Given the description of an element on the screen output the (x, y) to click on. 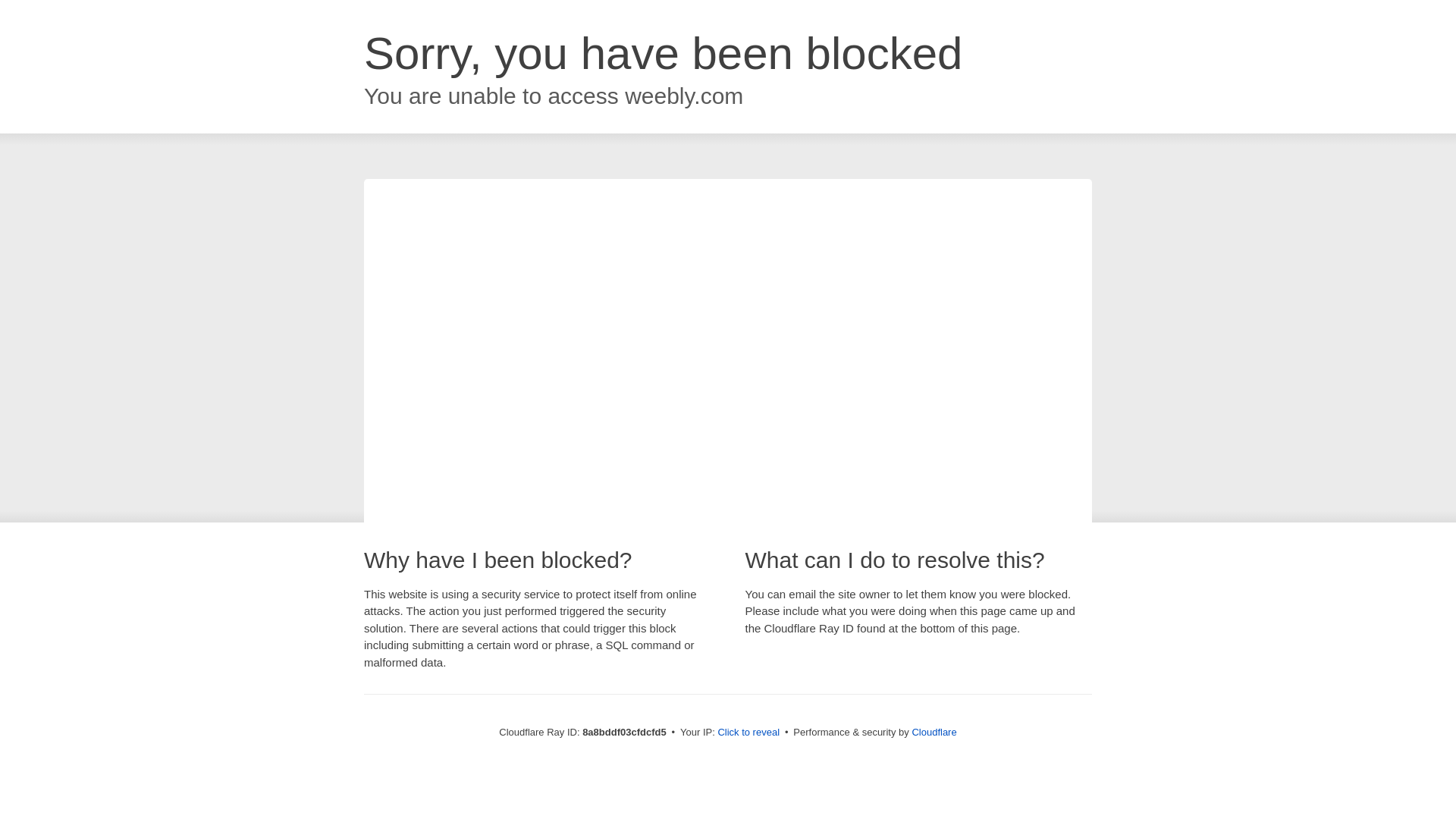
Click to reveal (747, 732)
Cloudflare (933, 731)
